Given the description of an element on the screen output the (x, y) to click on. 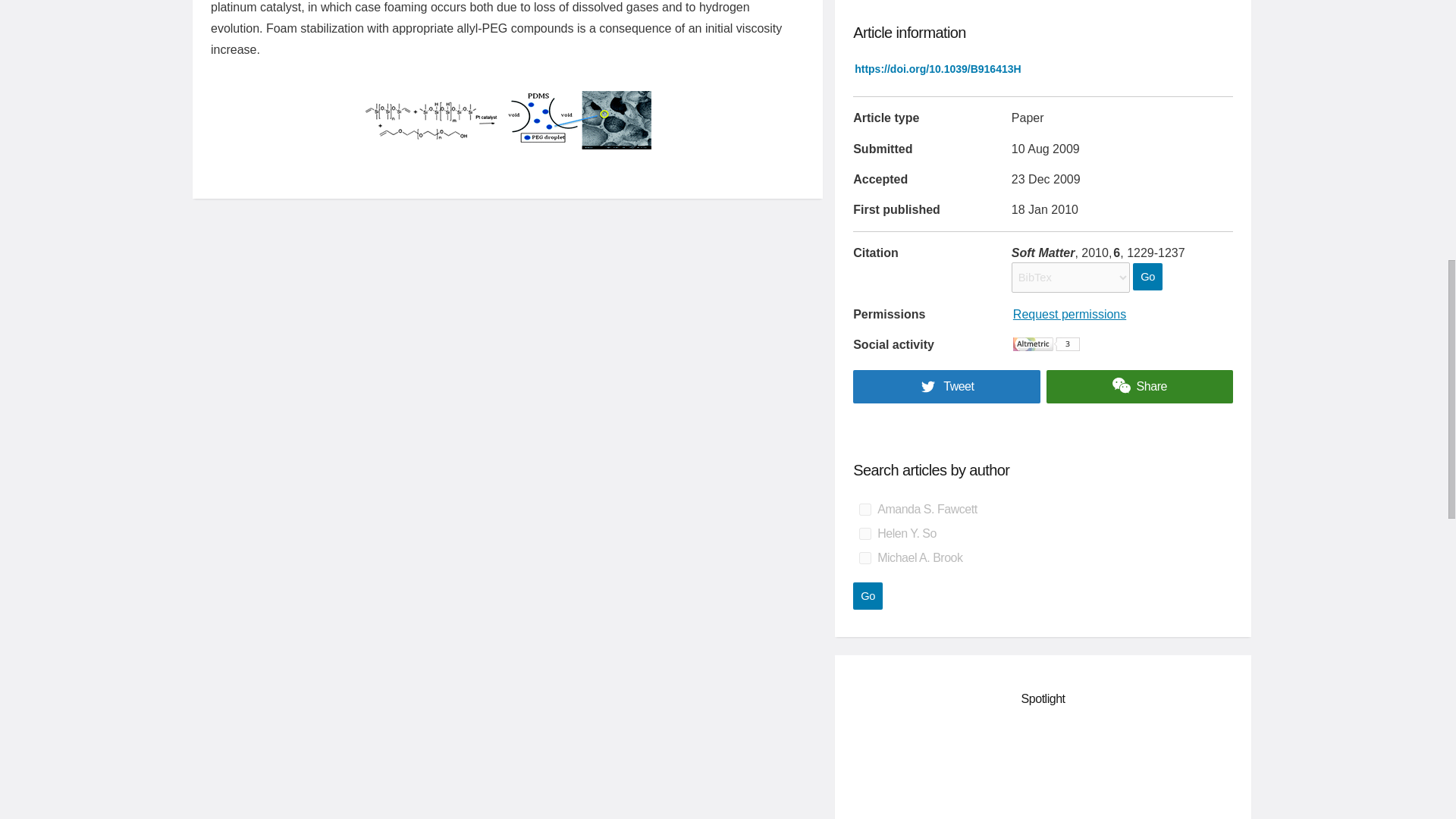
on (864, 509)
Go (1146, 276)
Go (867, 595)
on (864, 533)
Request permissions (1068, 314)
Go (867, 595)
3rd party ad content (1043, 771)
on (864, 558)
Link to landing page via DOI (937, 68)
Go (1146, 276)
